Given the description of an element on the screen output the (x, y) to click on. 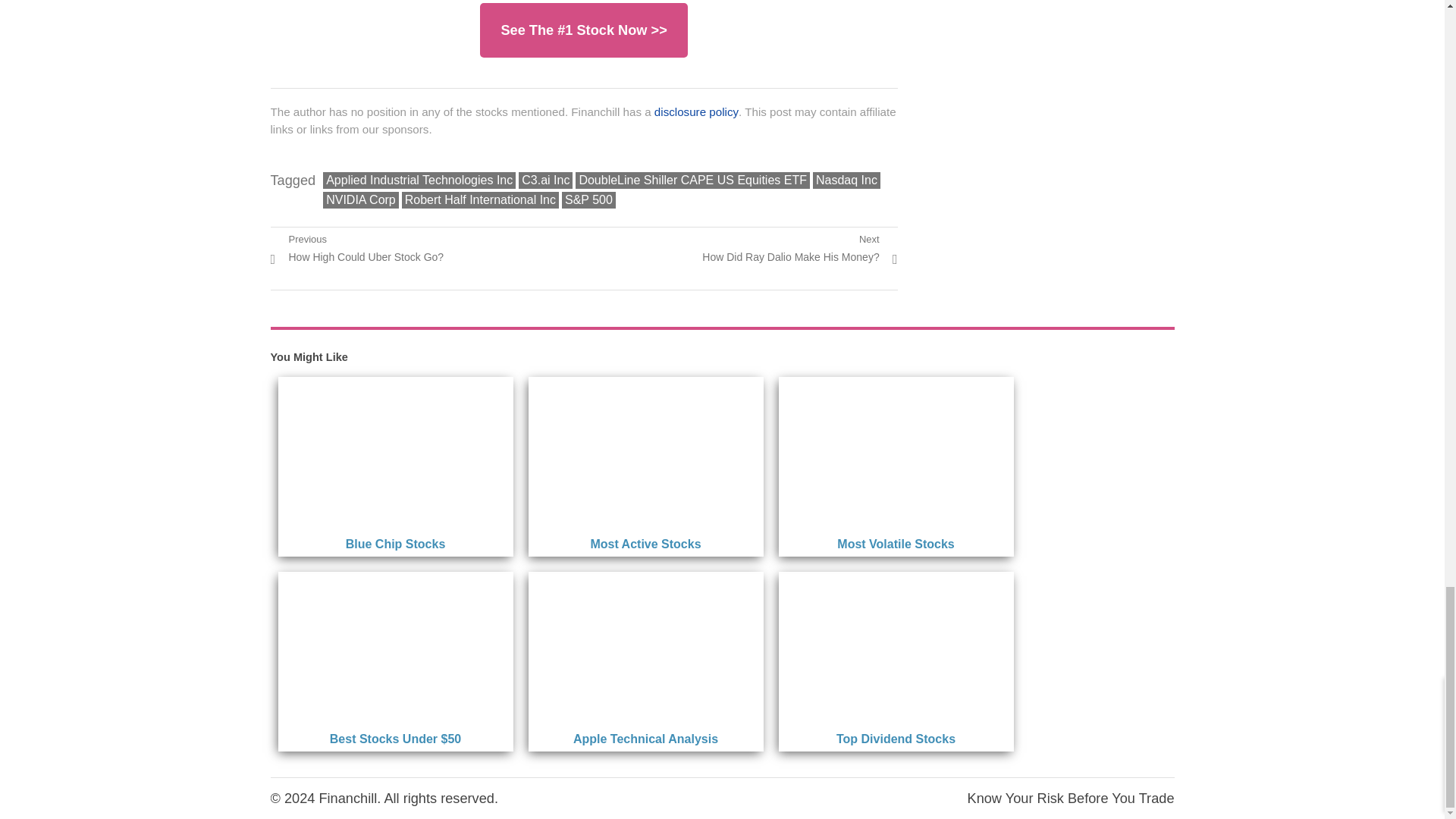
Robert Half International Inc (480, 199)
NVIDIA Corp (360, 199)
disclosure policy (695, 111)
Applied Industrial Technologies Inc (419, 180)
DoubleLine Shiller CAPE US Equities ETF (692, 180)
C3.ai Inc (356, 247)
Nasdaq Inc (798, 247)
